Given the description of an element on the screen output the (x, y) to click on. 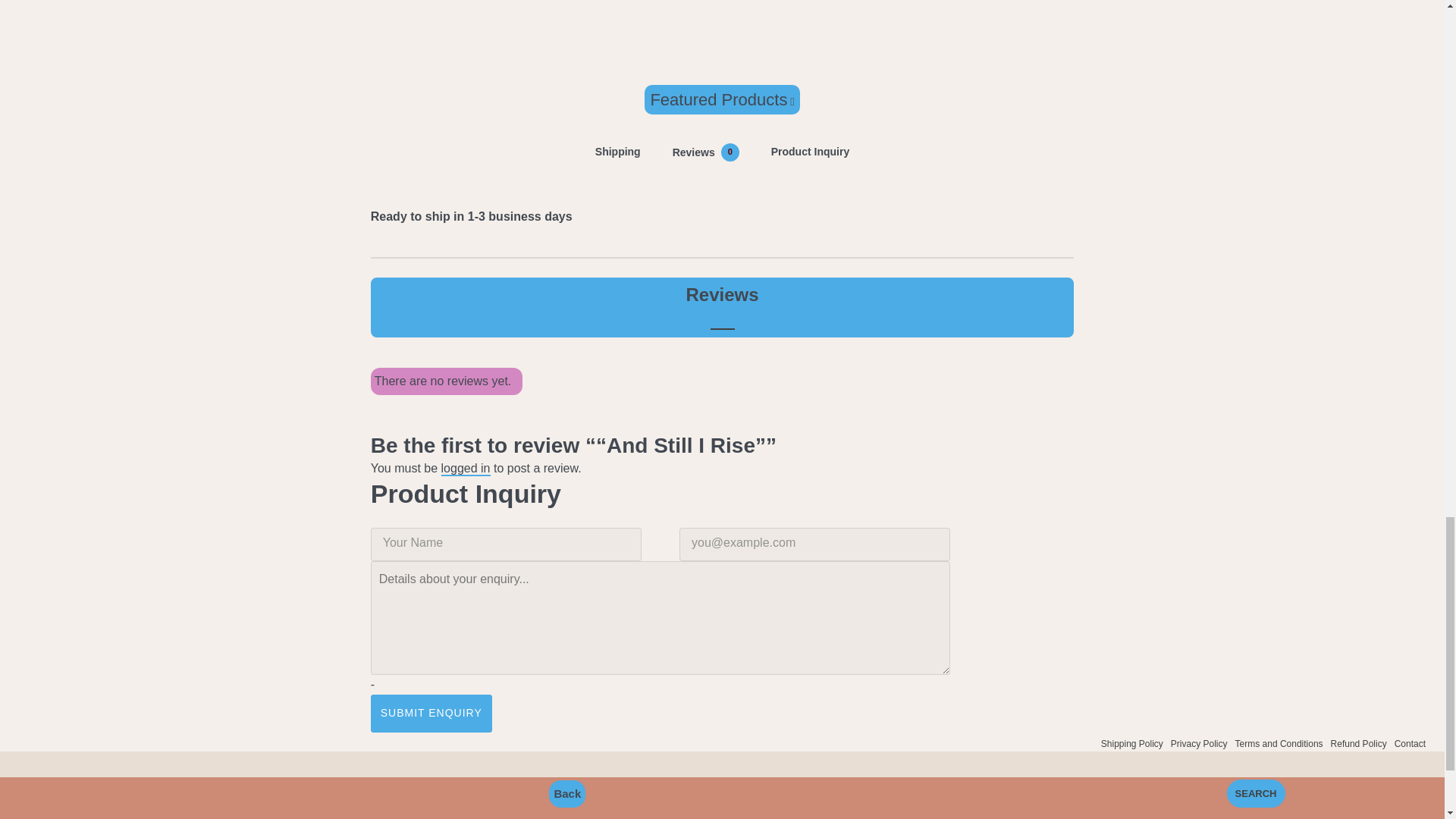
Shipping (617, 151)
Refund Policy (705, 151)
Contact (1358, 743)
Submit Enquiry (1409, 743)
logged in (431, 713)
Privacy Policy (465, 468)
Shipping Policy (1198, 743)
Submit Enquiry (1131, 743)
Featured Products (431, 713)
